Given the description of an element on the screen output the (x, y) to click on. 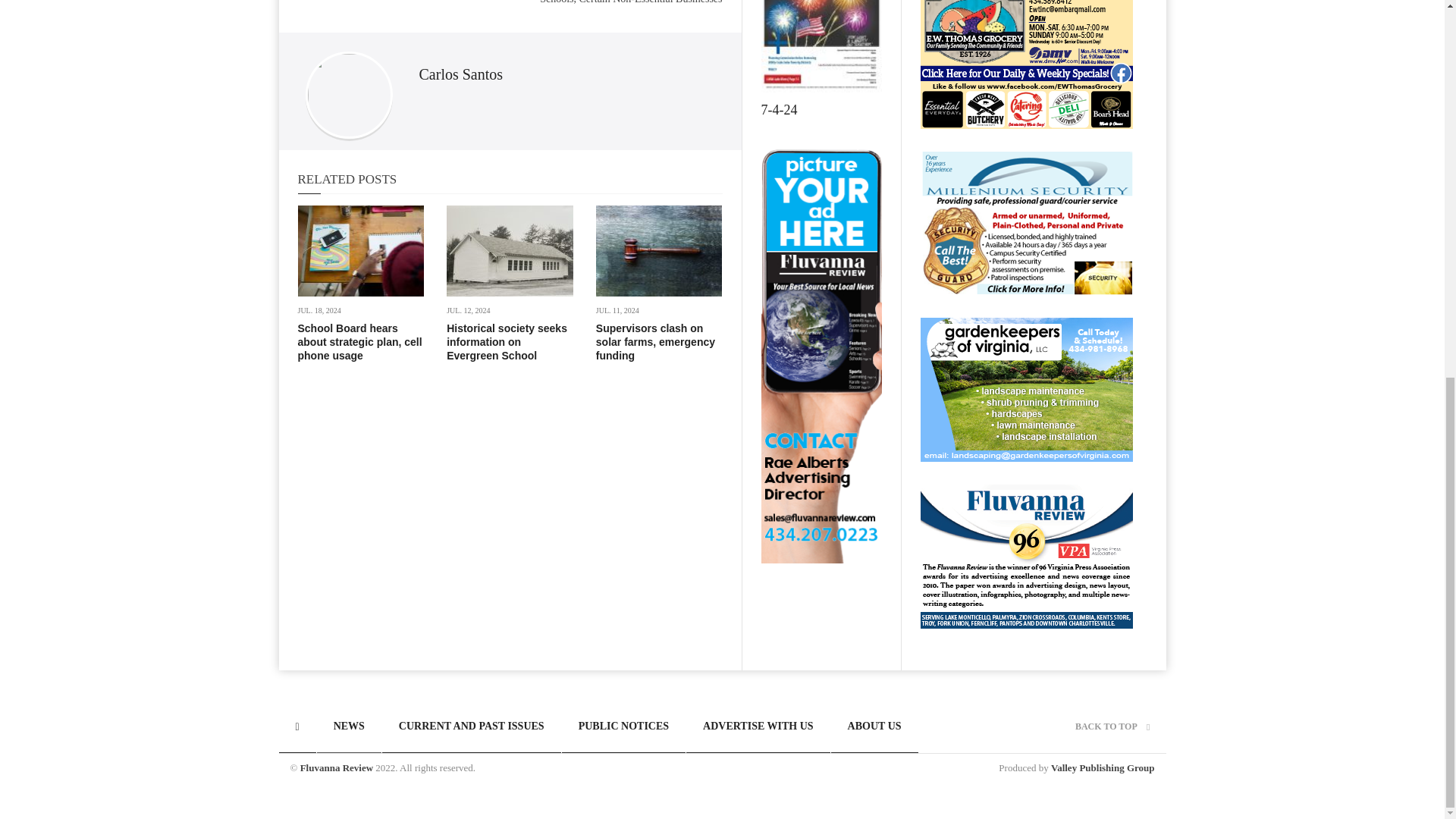
BACK TO TOP (1112, 726)
Posts by Carlos Santos (460, 73)
